Given the description of an element on the screen output the (x, y) to click on. 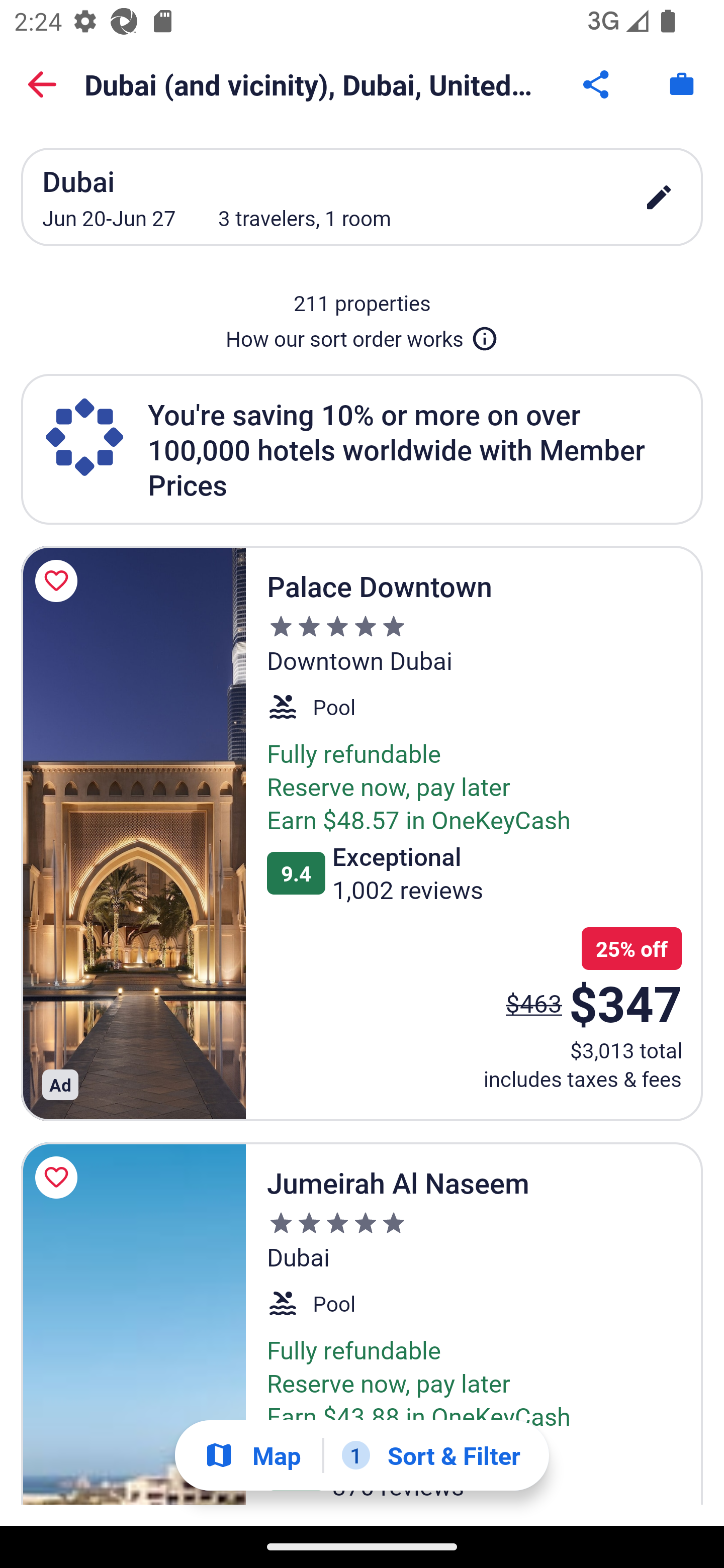
Back (42, 84)
Share Button (597, 84)
Trips. Button (681, 84)
Dubai Jun 20-Jun 27 3 travelers, 1 room edit (361, 196)
How our sort order works (361, 334)
Save Palace Downtown to a trip (59, 580)
Palace Downtown (133, 833)
$463 The price was $463 (533, 1003)
Save Jumeirah Al Naseem to a trip (59, 1177)
Jumeirah Al Naseem (133, 1324)
1 Sort & Filter 1 Filter applied. Filters Button (430, 1455)
Show map Map Show map Button (252, 1455)
